Given the description of an element on the screen output the (x, y) to click on. 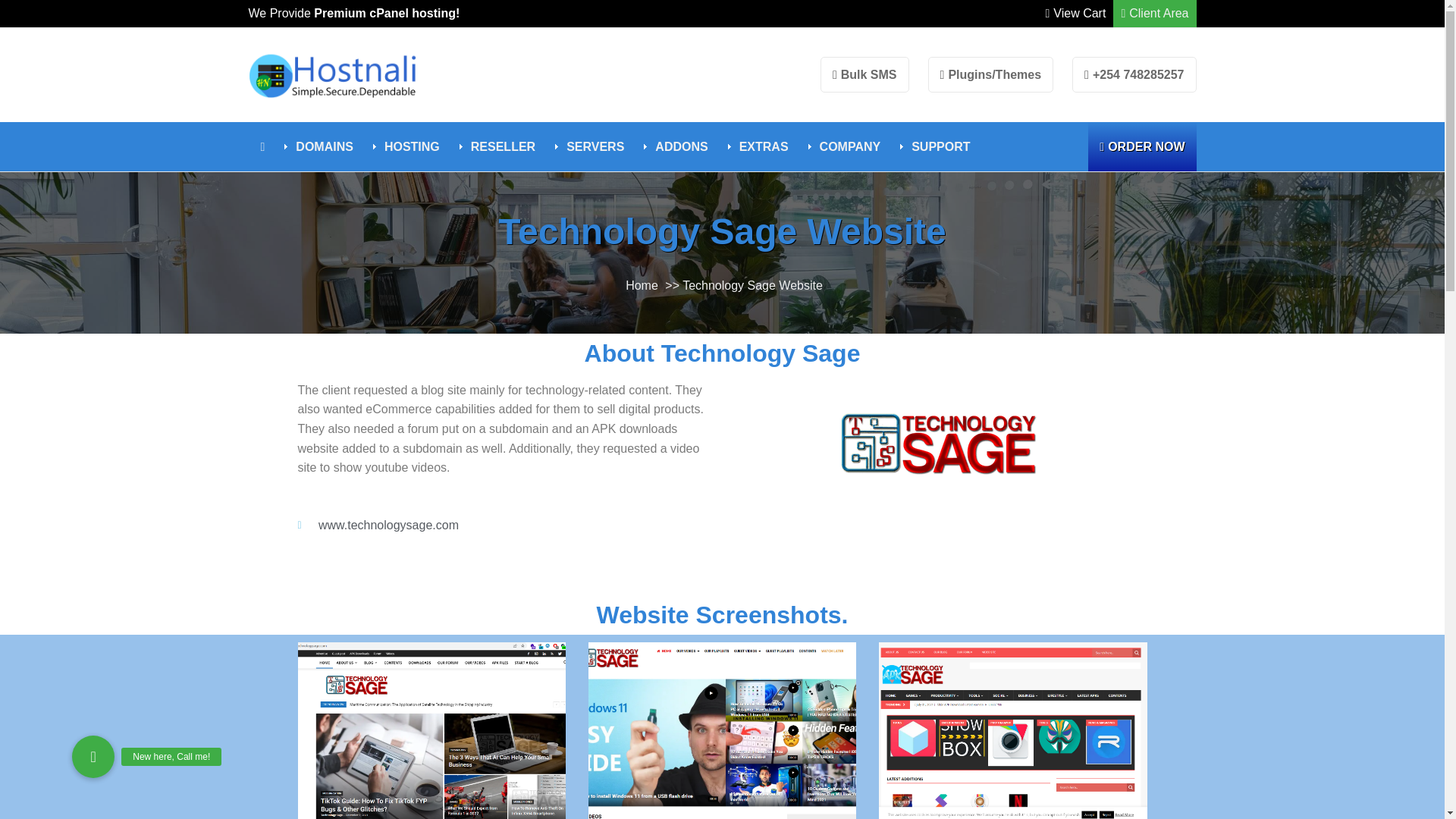
Client Area (1154, 13)
Bulk SMS (864, 74)
RESELLER (499, 146)
COMPANY (846, 146)
View Cart (1074, 13)
SERVERS (591, 146)
HOSTING (408, 146)
ADDONS (677, 146)
Technology Sage Website 3 (938, 443)
EXTRAS (760, 146)
DOMAINS (320, 146)
